Given the description of an element on the screen output the (x, y) to click on. 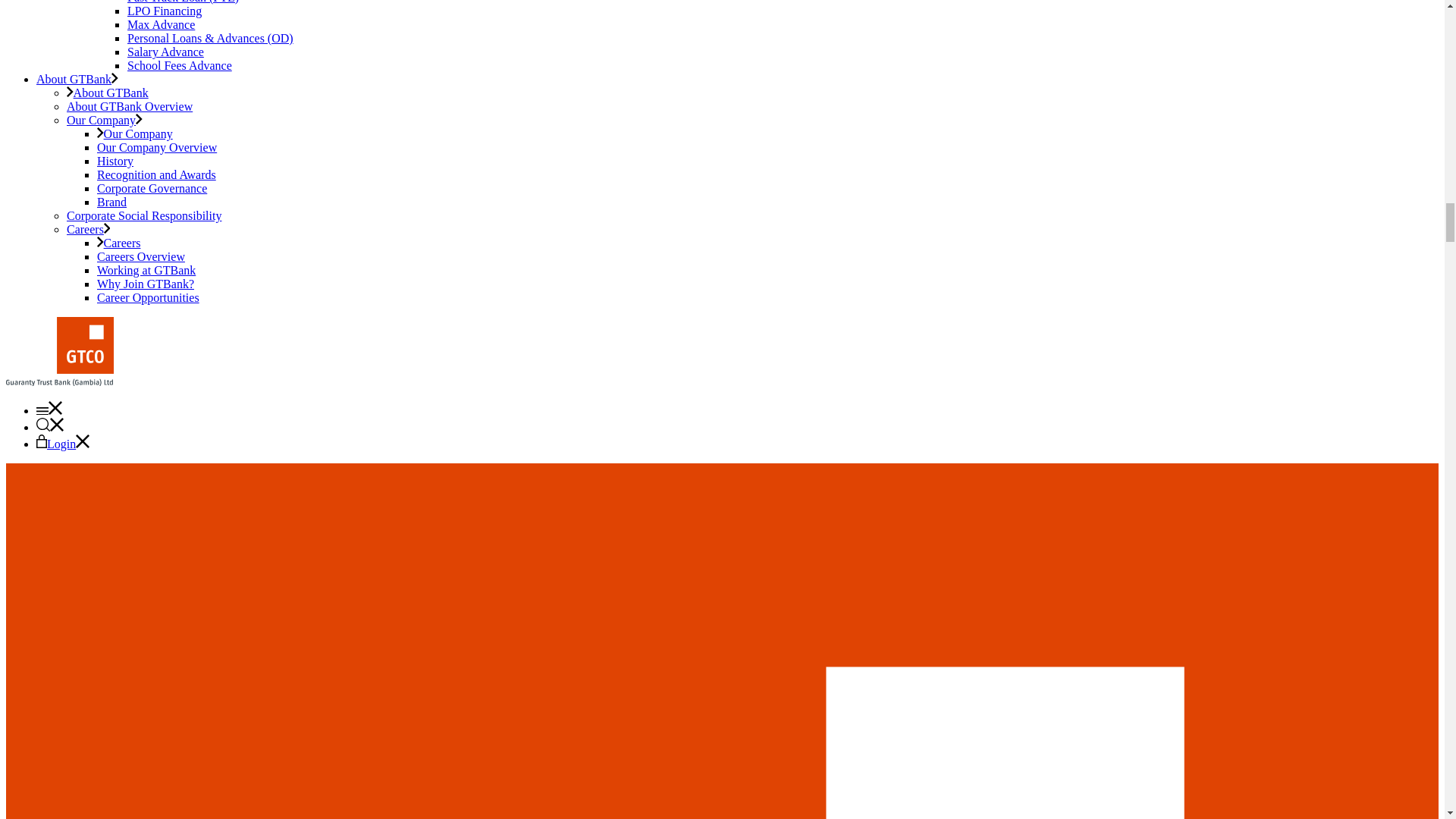
GTBank Gambia (59, 381)
